Given the description of an element on the screen output the (x, y) to click on. 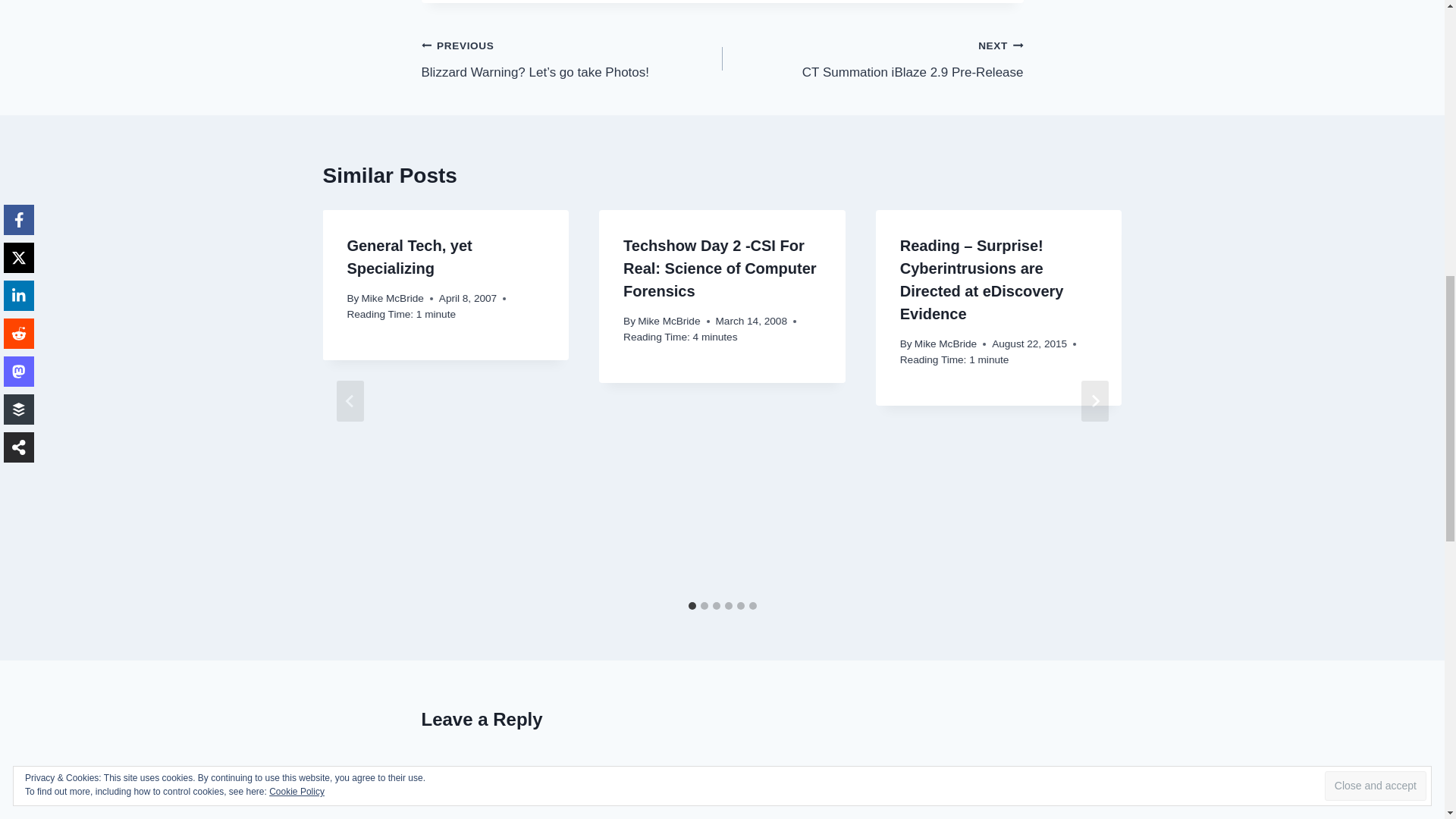
Comment Form (722, 785)
